Given the description of an element on the screen output the (x, y) to click on. 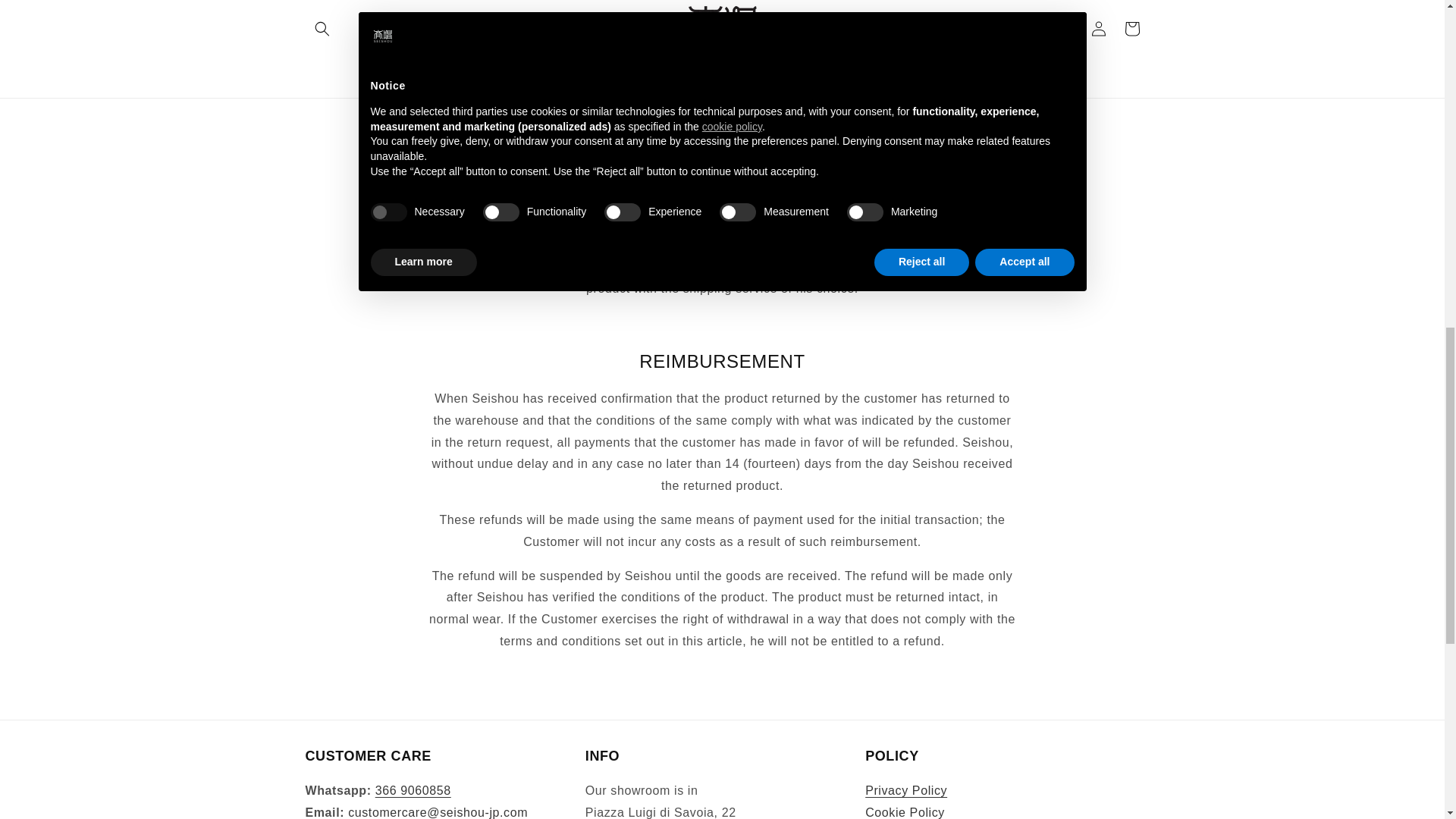
366 9060858 (413, 789)
